Given the description of an element on the screen output the (x, y) to click on. 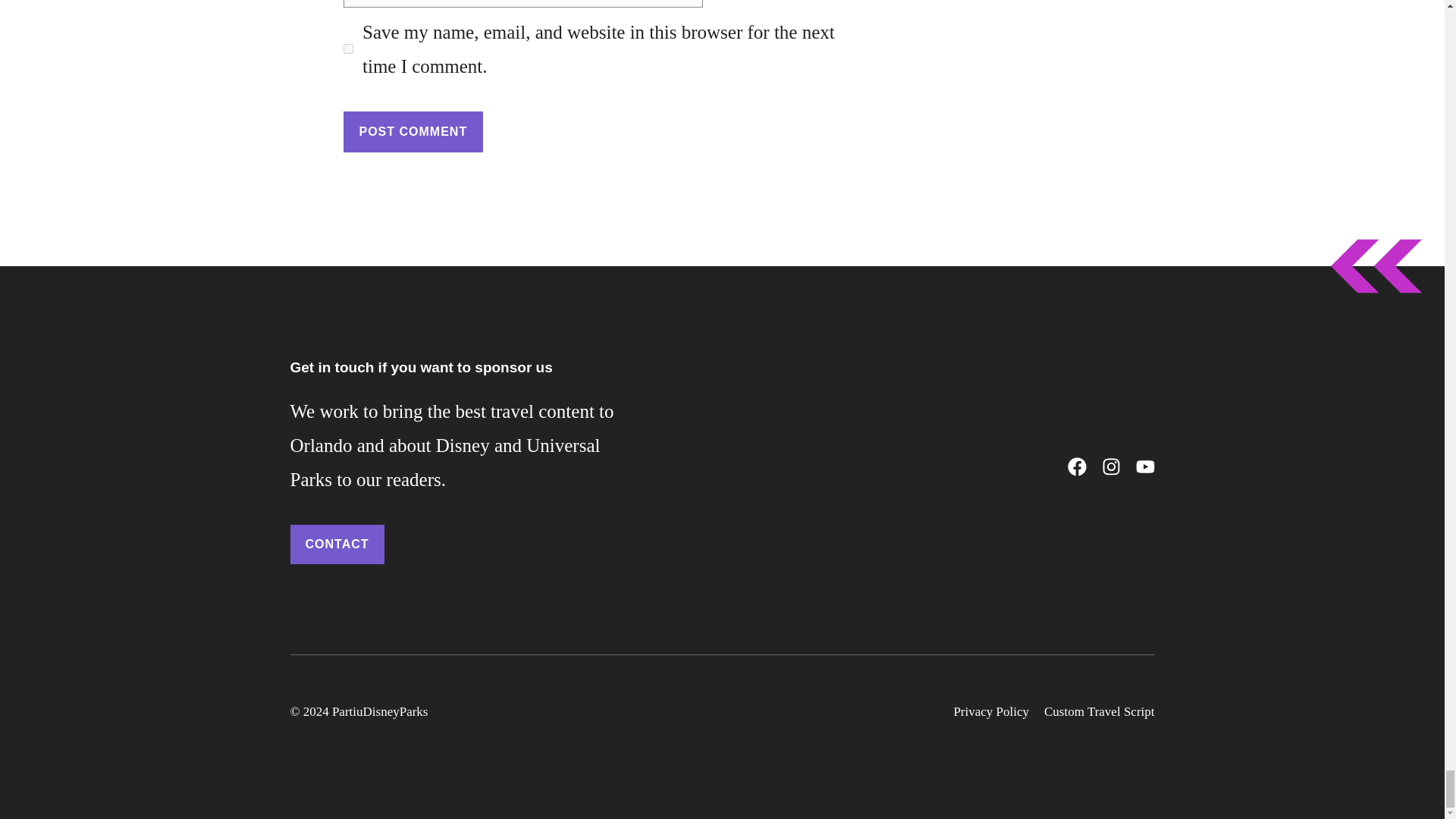
yes (347, 49)
Post Comment (412, 131)
